Given the description of an element on the screen output the (x, y) to click on. 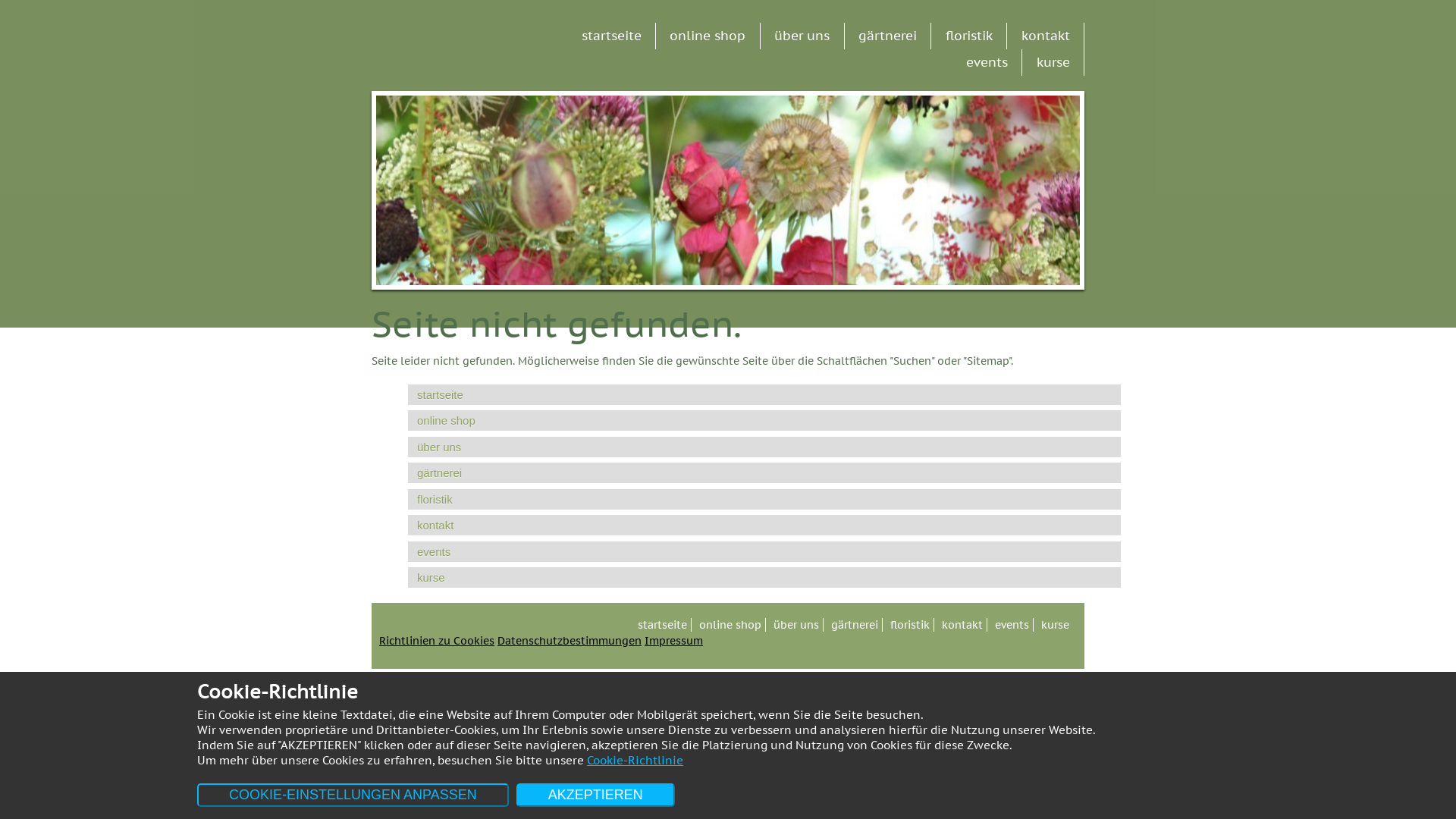
kontakt Element type: text (763, 524)
kontakt Element type: text (963, 624)
Datenschutzbestimmungen Element type: text (569, 640)
events Element type: text (1013, 624)
kurse Element type: text (1053, 62)
Richtlinien zu Cookies Element type: text (436, 640)
startseite Element type: text (663, 624)
kurse Element type: text (1057, 624)
floristik Element type: text (763, 499)
startseite Element type: text (611, 35)
events Element type: text (763, 551)
online shop Element type: text (732, 624)
kurse Element type: text (763, 577)
AKZEPTIEREN Element type: text (595, 794)
online shop Element type: text (763, 420)
Cookie-Richtlinie Element type: text (634, 760)
startseite Element type: text (763, 394)
online shop Element type: text (707, 35)
kontakt Element type: text (1045, 35)
events Element type: text (986, 62)
Impressum Element type: text (673, 640)
floristik Element type: text (911, 624)
floristik Element type: text (969, 35)
COOKIE-EINSTELLUNGEN ANPASSEN Element type: text (352, 794)
